Given the description of an element on the screen output the (x, y) to click on. 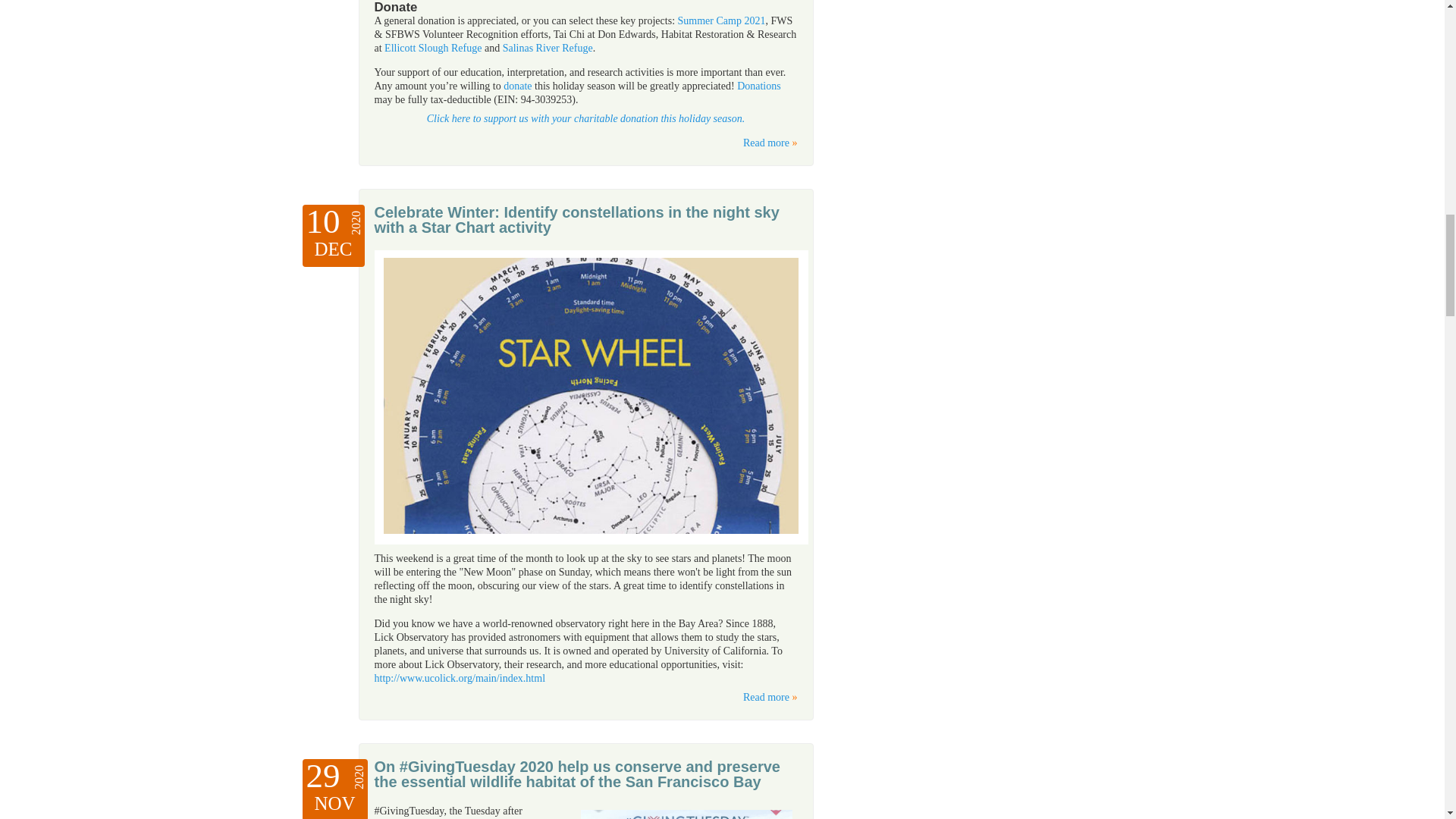
Ellicott Slough Refuge (432, 48)
Summer Camp 2021 (721, 20)
donate (517, 85)
Salinas River Refuge (547, 48)
Donations (758, 85)
